Given the description of an element on the screen output the (x, y) to click on. 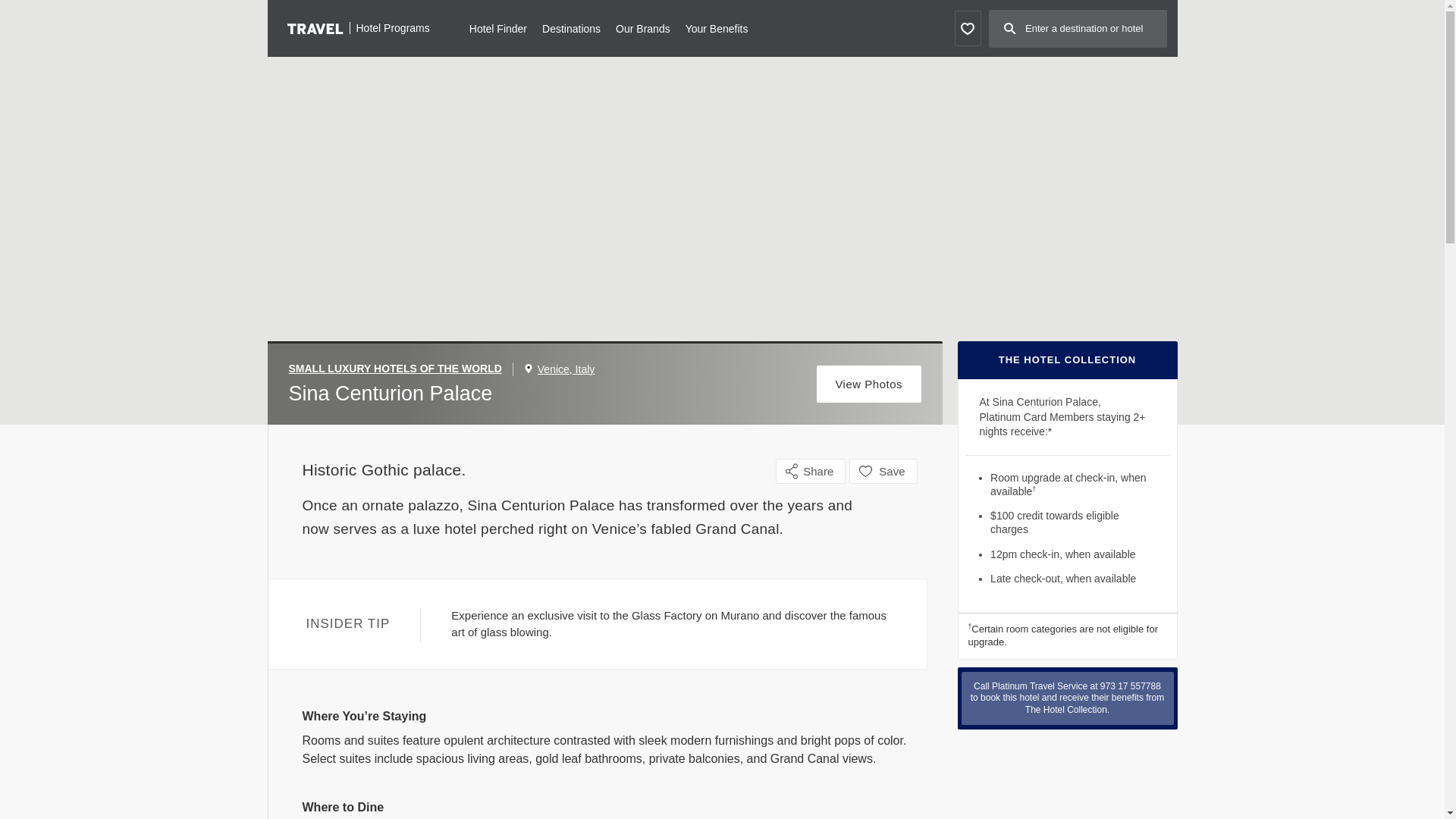
View Photos (868, 383)
Hotel Finder (497, 27)
SMALL LUXURY HOTELS OF THE WORLD (400, 368)
Destinations (570, 27)
Venice, Italy (566, 369)
Share (810, 471)
Your Benefits (716, 27)
Our Brands (642, 27)
Hotel Programs (357, 27)
Save (882, 471)
